Given the description of an element on the screen output the (x, y) to click on. 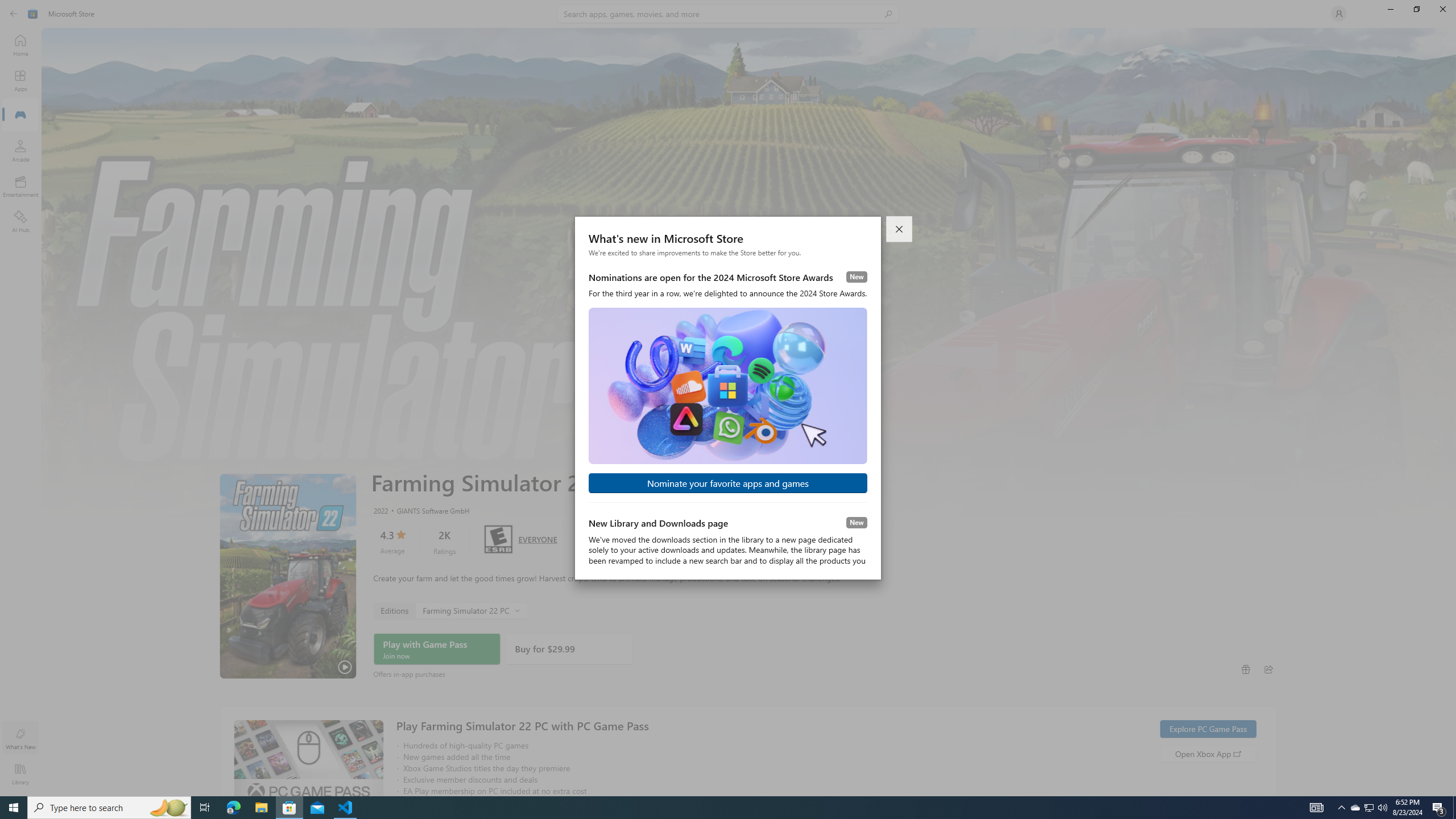
Age rating: EVERYONE. Click for more information. (537, 538)
Explore PC Game Pass (1207, 728)
4.3 stars. Click to skip to ratings and reviews (392, 541)
Back (13, 13)
Play Trailer (287, 575)
2022 (379, 510)
Nominate your favorite apps and games (727, 483)
Search (727, 13)
Play with Game Pass (436, 649)
